Given the description of an element on the screen output the (x, y) to click on. 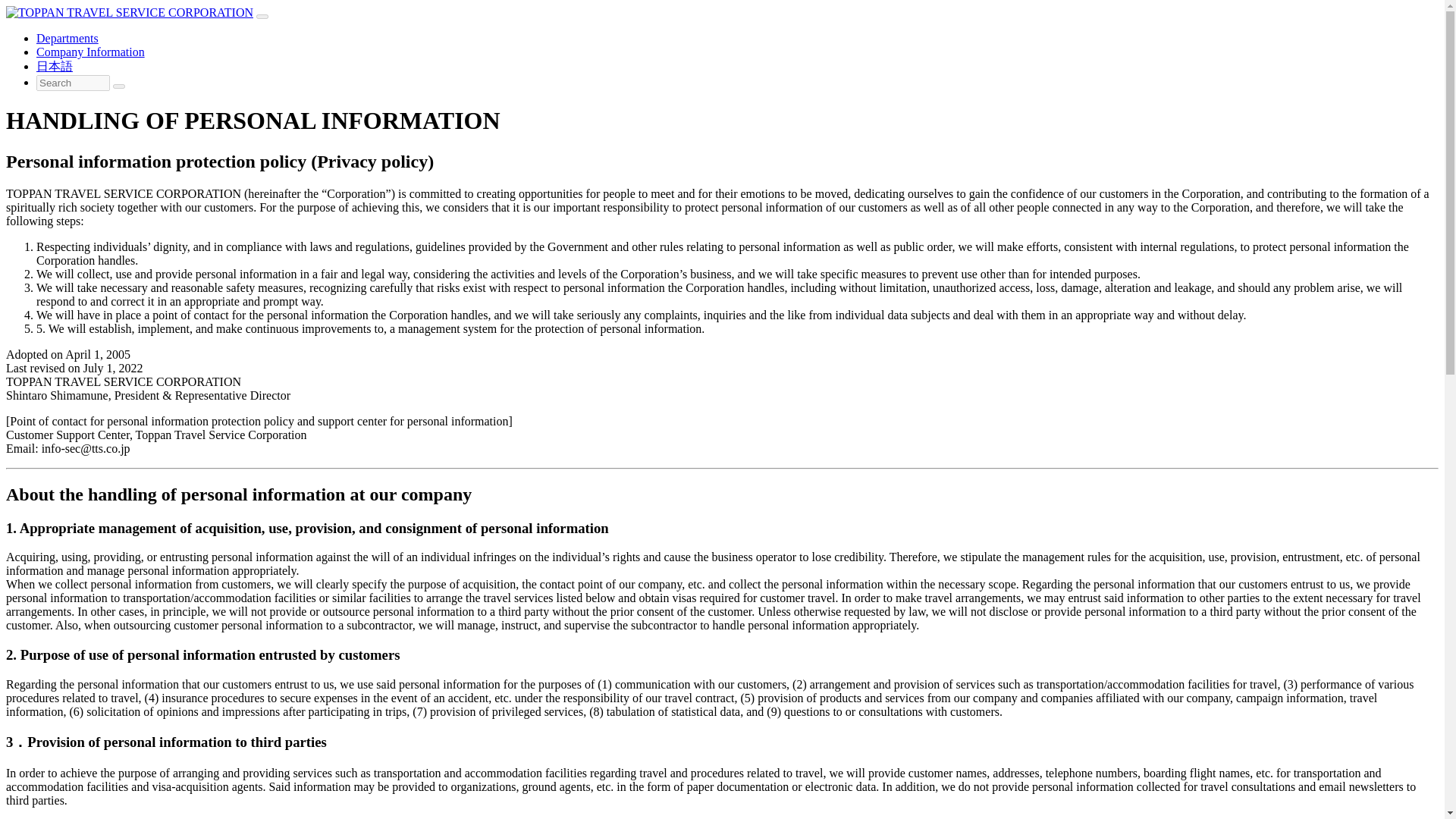
Departments (67, 38)
Company Information (90, 51)
TOPPAN TRAVEL SERVICE CORPORATION (129, 12)
